Given the description of an element on the screen output the (x, y) to click on. 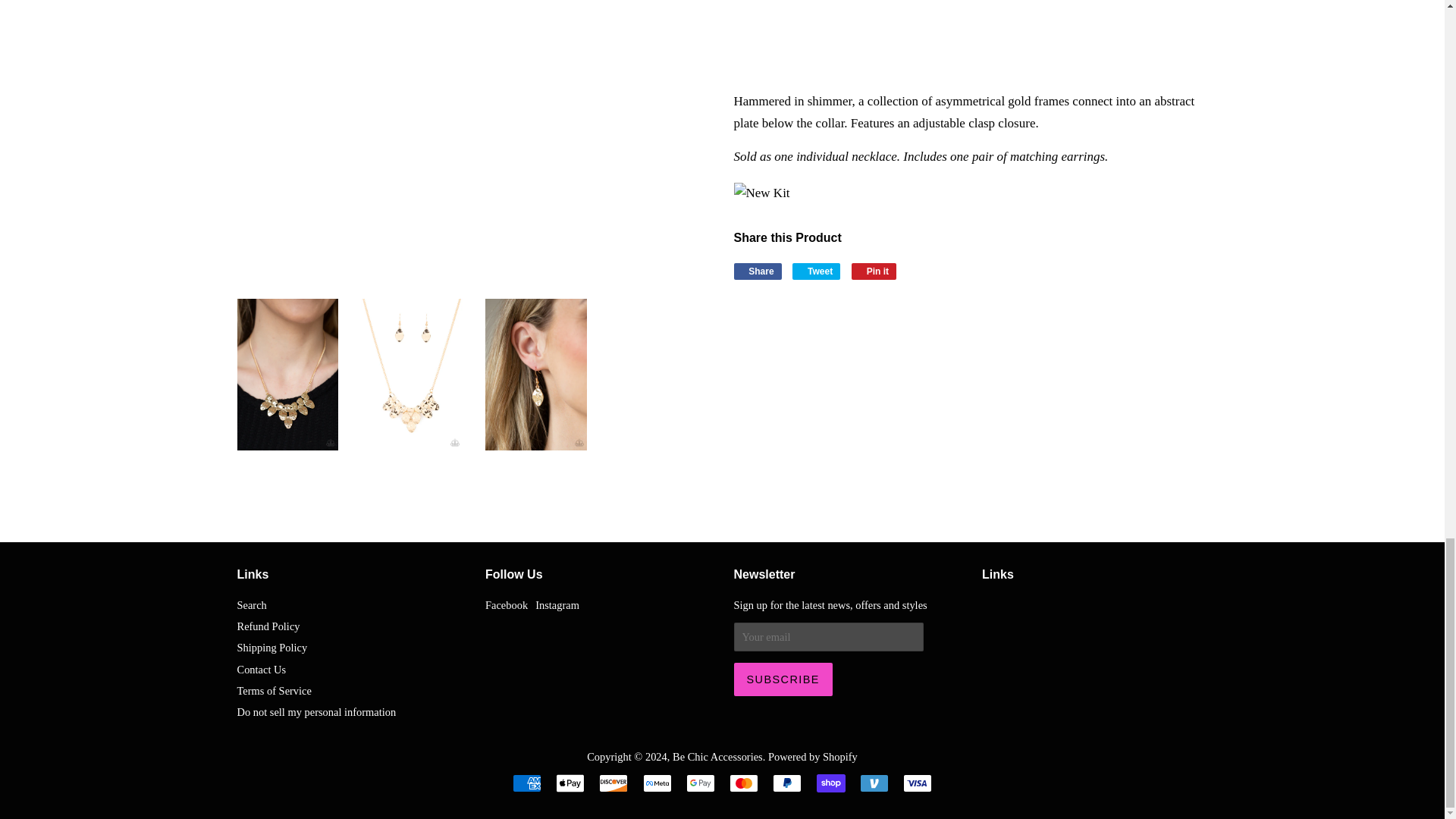
Meta Pay (657, 782)
Mastercard (743, 782)
Share on Facebook (757, 271)
Be Chic Accessories on Instagram (557, 604)
Discover (612, 782)
Tweet on Twitter (816, 271)
Visa (916, 782)
Shop Pay (830, 782)
PayPal (787, 782)
Apple Pay (570, 782)
Venmo (874, 782)
Subscribe (782, 679)
Pin on Pinterest (873, 271)
Be Chic Accessories on Facebook (505, 604)
Google Pay (699, 782)
